Given the description of an element on the screen output the (x, y) to click on. 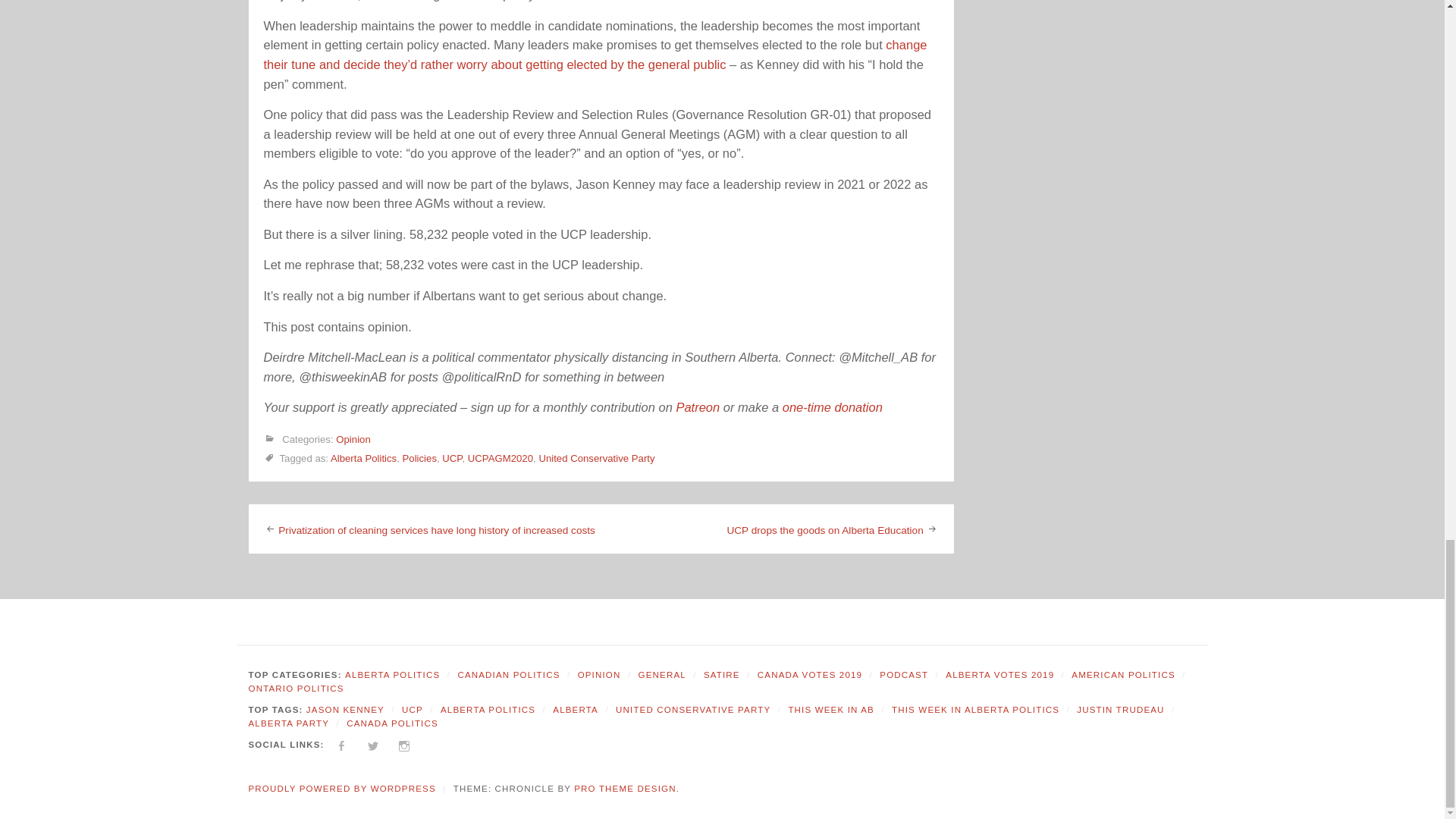
UCP drops the goods on Alberta Education (824, 530)
CANADIAN POLITICS (508, 674)
United Conservative Party (595, 458)
UCP (451, 458)
A Semantic Personal Publishing Platform (341, 788)
ALBERTA POLITICS (392, 674)
Policies (419, 458)
Alberta Politics (363, 458)
Patreon (697, 407)
Opinion (352, 439)
UCPAGM2020 (499, 458)
one-time donation (832, 407)
